Given the description of an element on the screen output the (x, y) to click on. 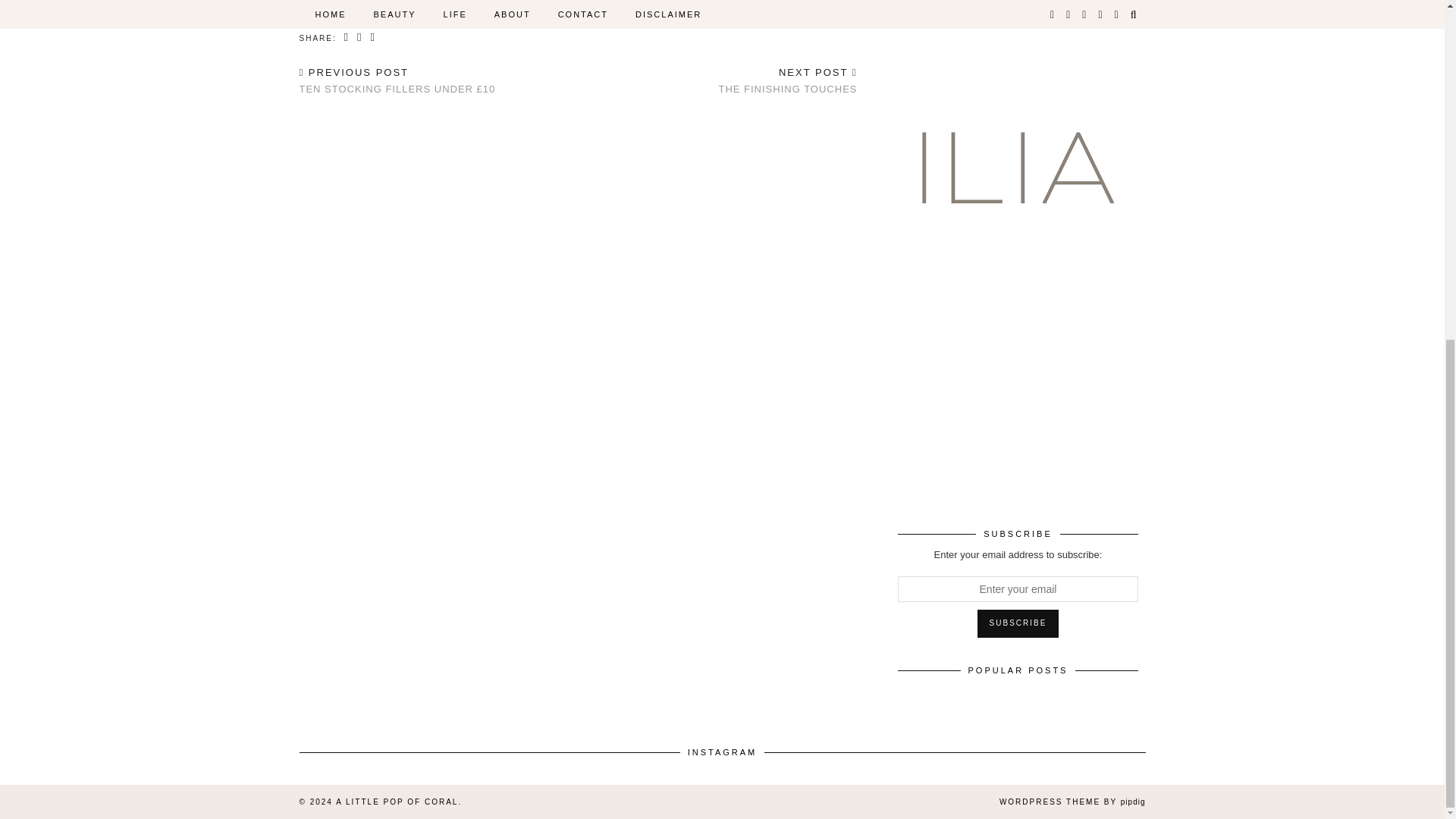
Subscribe (1017, 623)
